Given the description of an element on the screen output the (x, y) to click on. 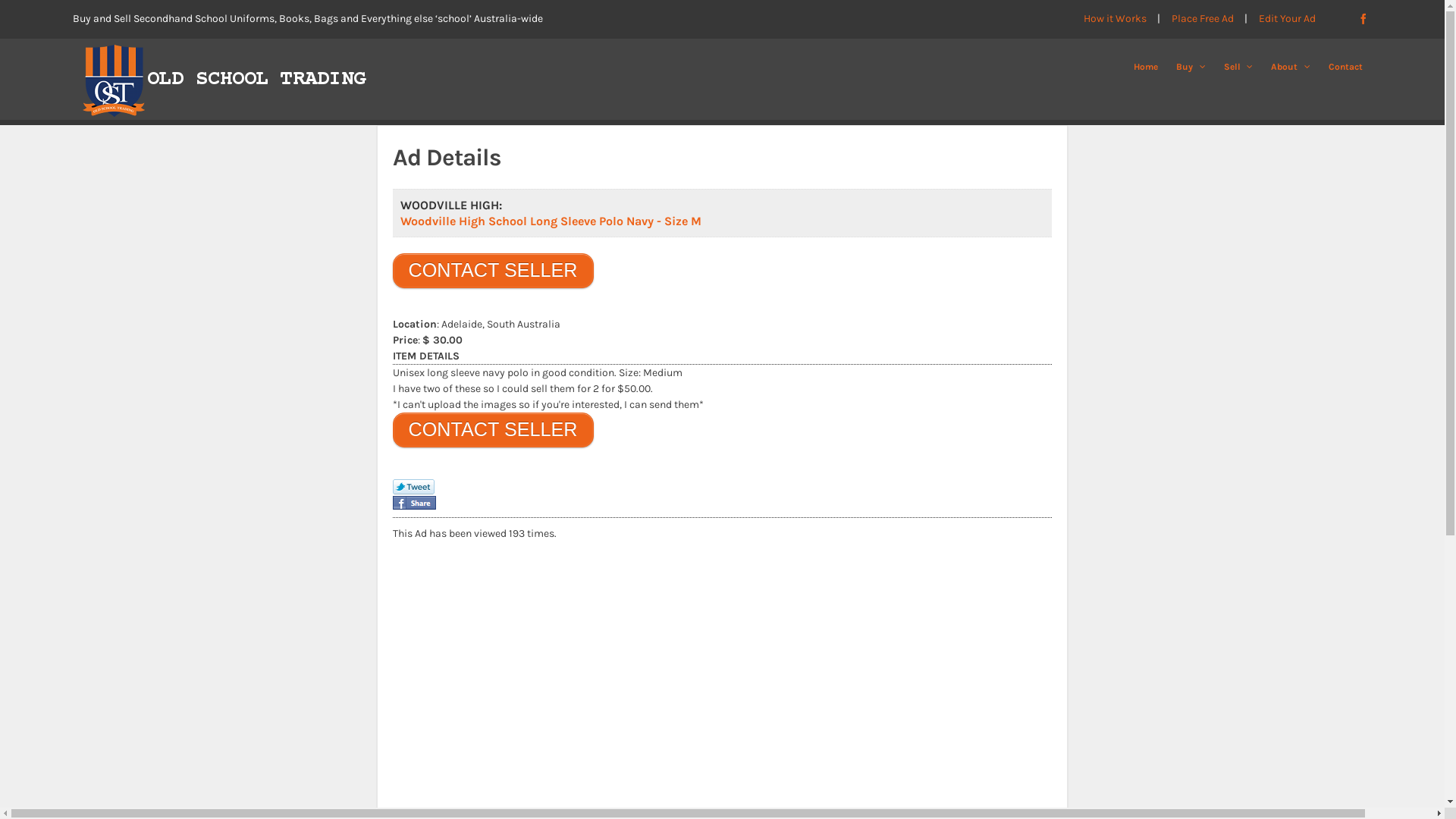
Home Element type: text (1145, 66)
About Element type: text (1290, 66)
Place Free Ad Element type: text (1209, 18)
Buy Element type: text (1190, 66)
Facebook Element type: hover (1363, 18)
Woodville High School Long Sleeve Polo Navy - Size M Element type: text (550, 220)
How it Works Element type: text (1122, 18)
CONTACT SELLER Element type: text (492, 270)
Tweet This Element type: text (413, 487)
Share on Facebook Element type: hover (414, 502)
Sell Element type: text (1238, 66)
Edit Your Ad Element type: text (1287, 18)
Contact Element type: text (1345, 66)
CONTACT SELLER Element type: text (492, 429)
